Given the description of an element on the screen output the (x, y) to click on. 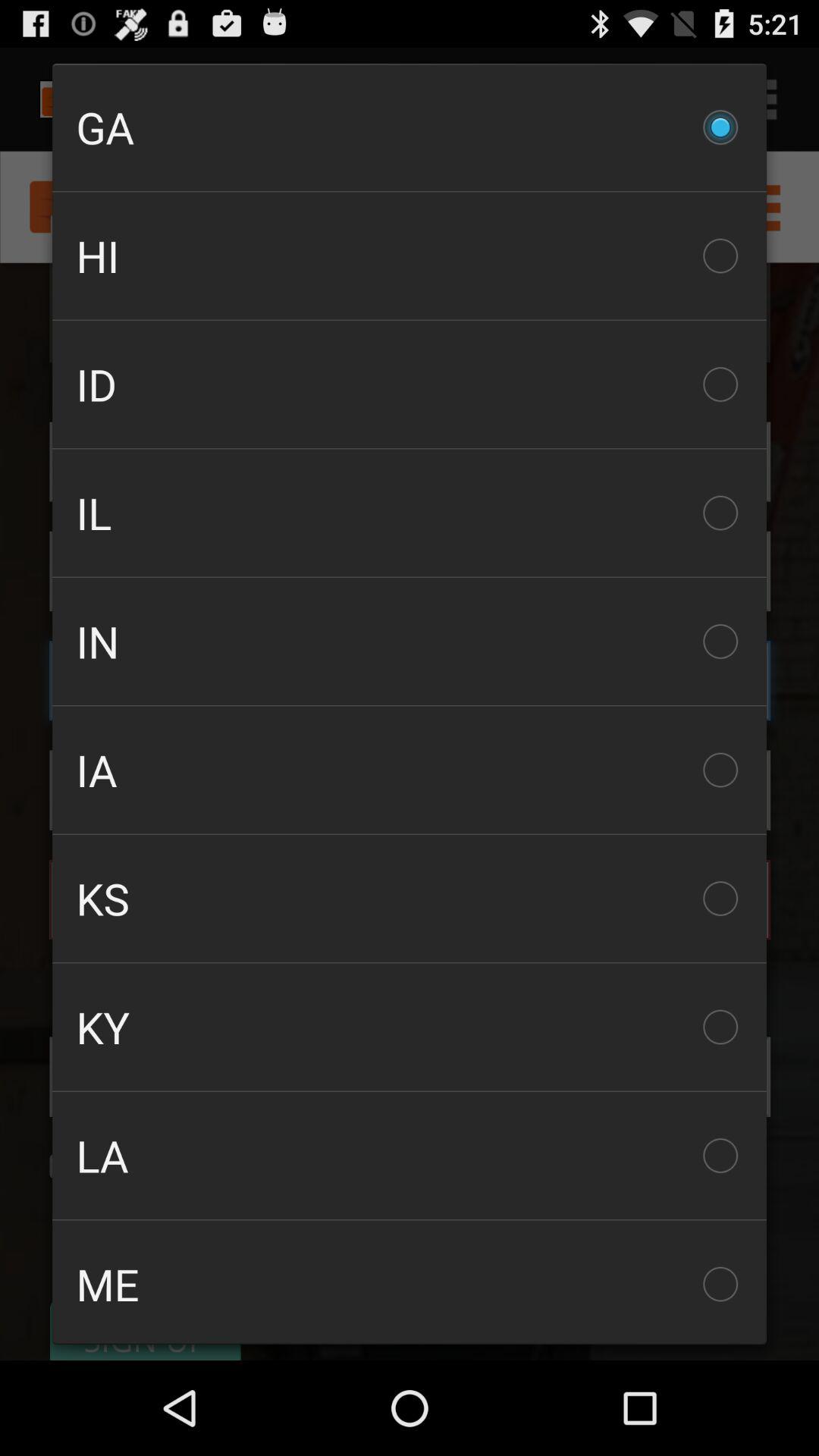
turn off the ks (409, 898)
